Given the description of an element on the screen output the (x, y) to click on. 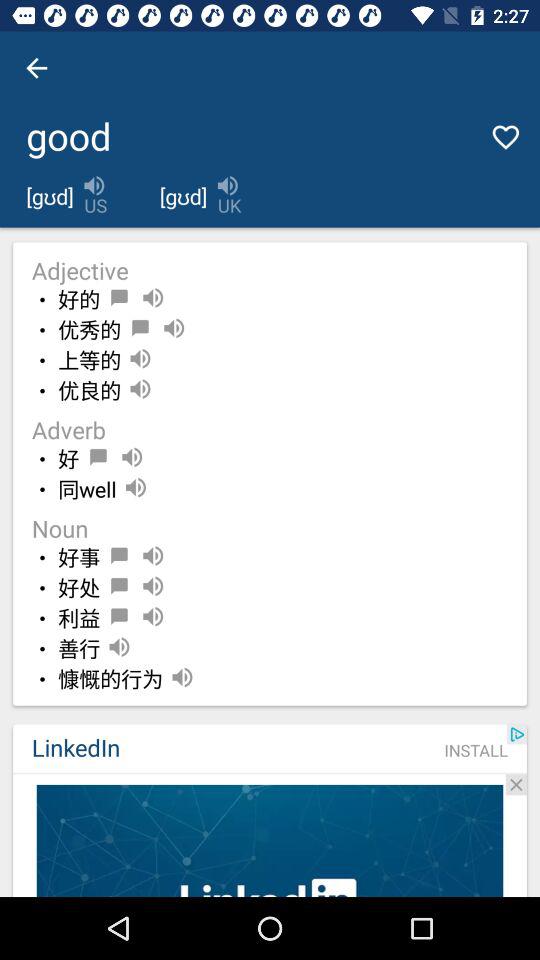
advertisement pannel (269, 840)
